Given the description of an element on the screen output the (x, y) to click on. 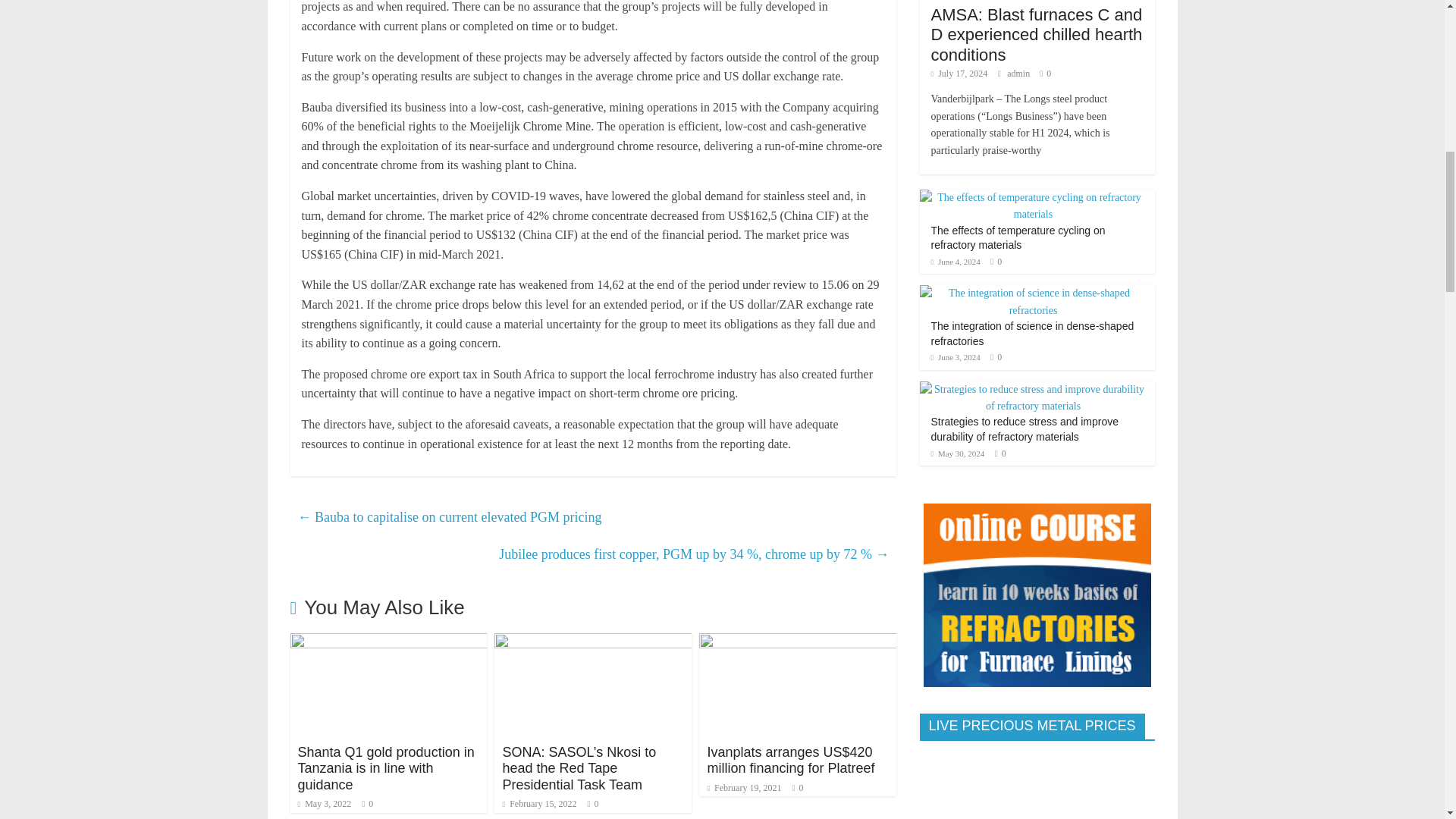
08:59 (323, 803)
